Given the description of an element on the screen output the (x, y) to click on. 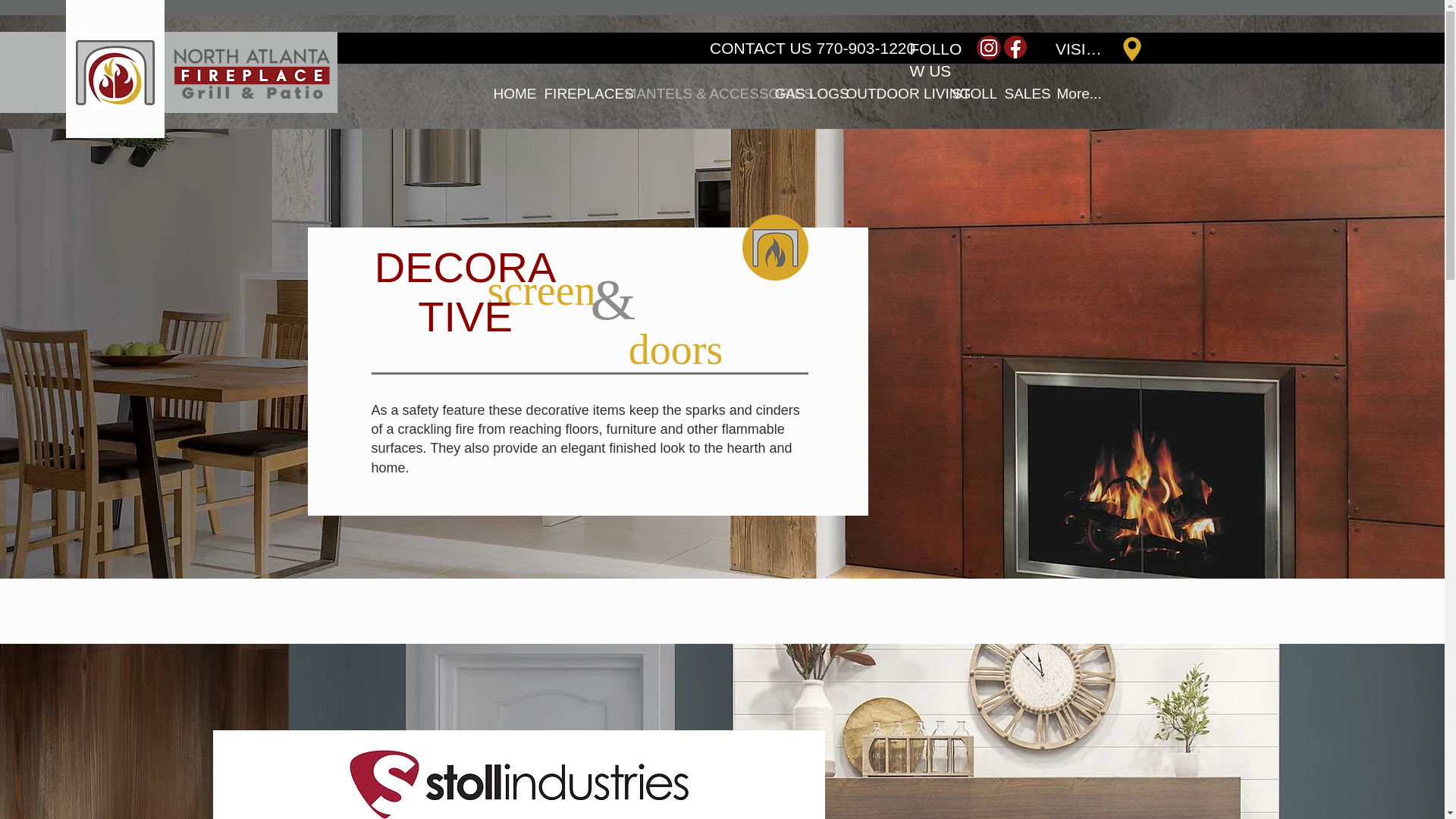
SALES (1018, 93)
FIREPLACES (572, 93)
CONTACT US 770-903-1220 (812, 48)
STOLL (966, 93)
GAS LOGS (798, 93)
HOME (506, 93)
OUTDOOR LIVING (887, 93)
VISIT US (1101, 48)
